Given the description of an element on the screen output the (x, y) to click on. 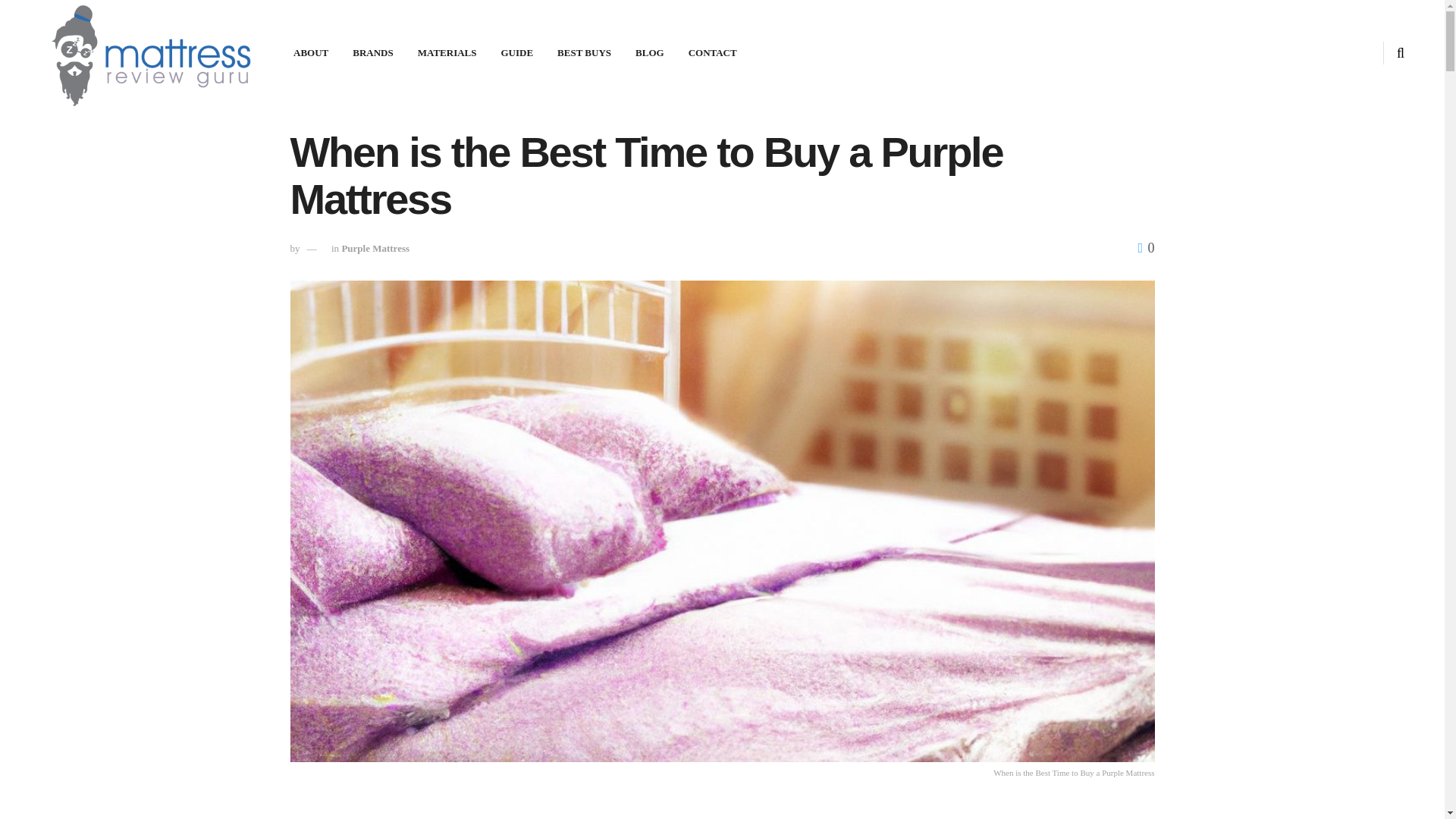
BEST BUYS (583, 53)
BLOG (650, 53)
0 (1145, 247)
GUIDE (515, 53)
ABOUT (310, 53)
Purple Mattress (374, 247)
MATERIALS (447, 53)
CONTACT (713, 53)
BRANDS (372, 53)
